Given the description of an element on the screen output the (x, y) to click on. 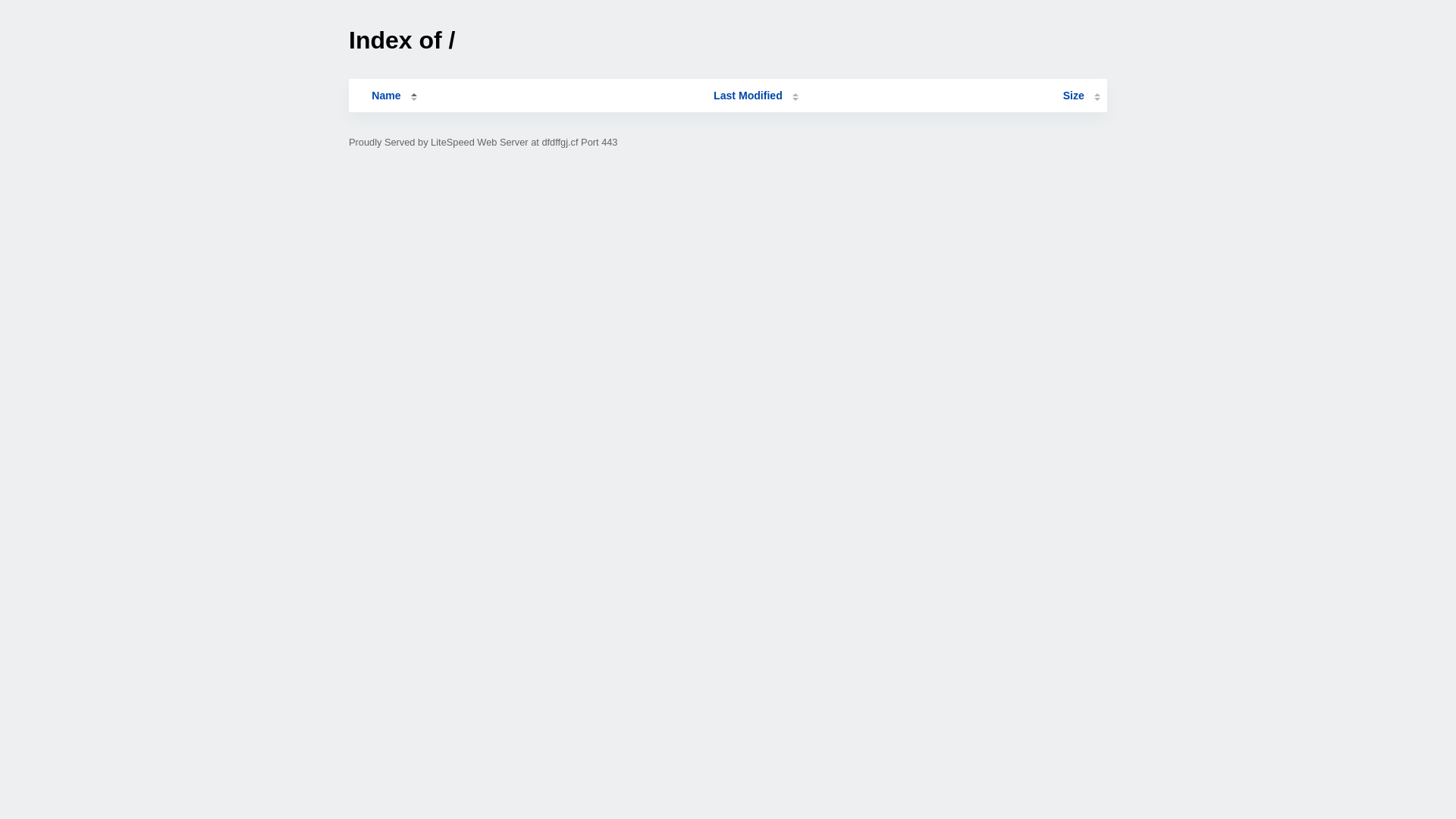
Name Element type: text (385, 95)
Size Element type: text (1081, 95)
Last Modified Element type: text (755, 95)
